Given the description of an element on the screen output the (x, y) to click on. 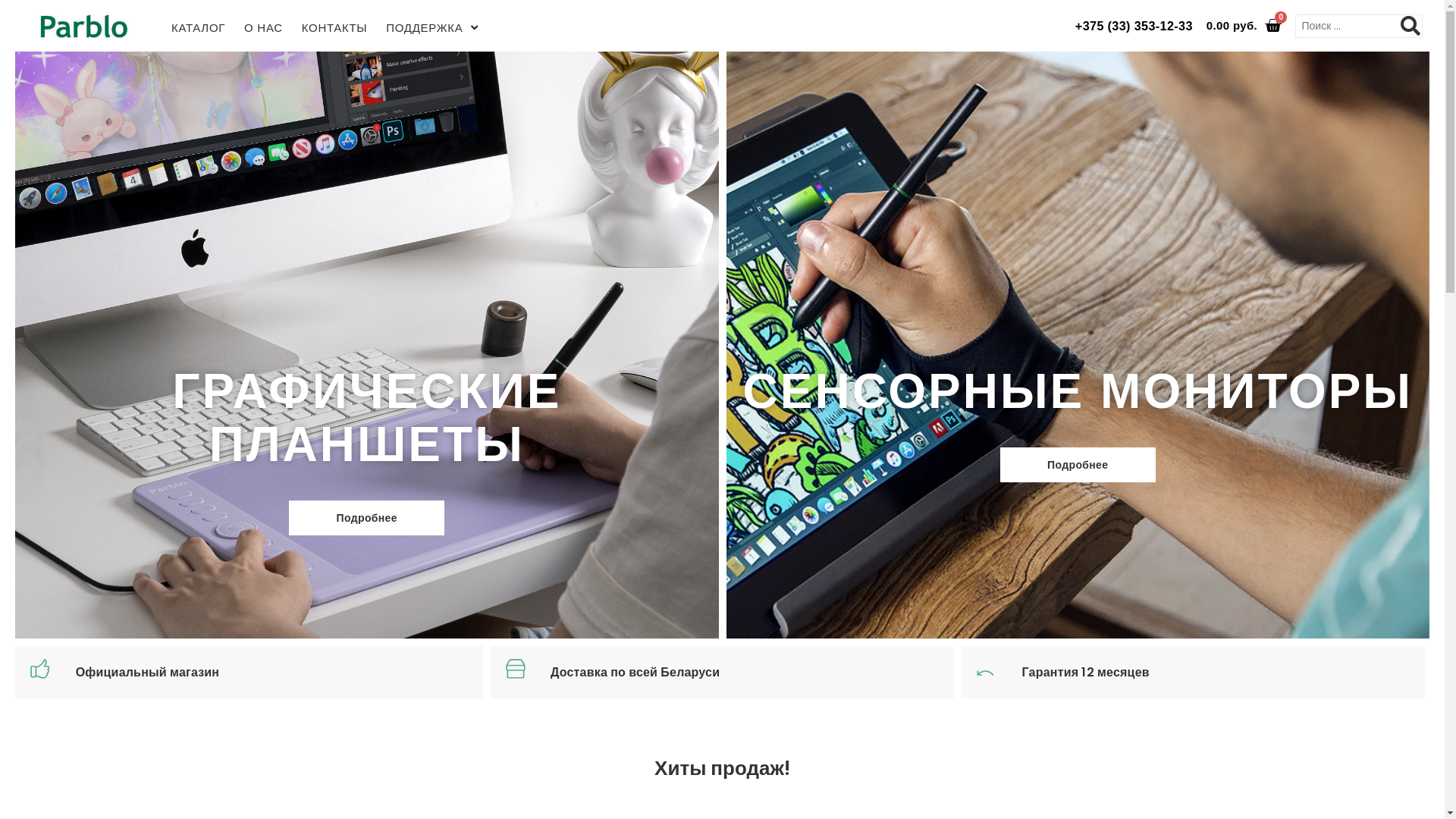
+375 (33) 353-12-33 Element type: text (1133, 25)
